Given the description of an element on the screen output the (x, y) to click on. 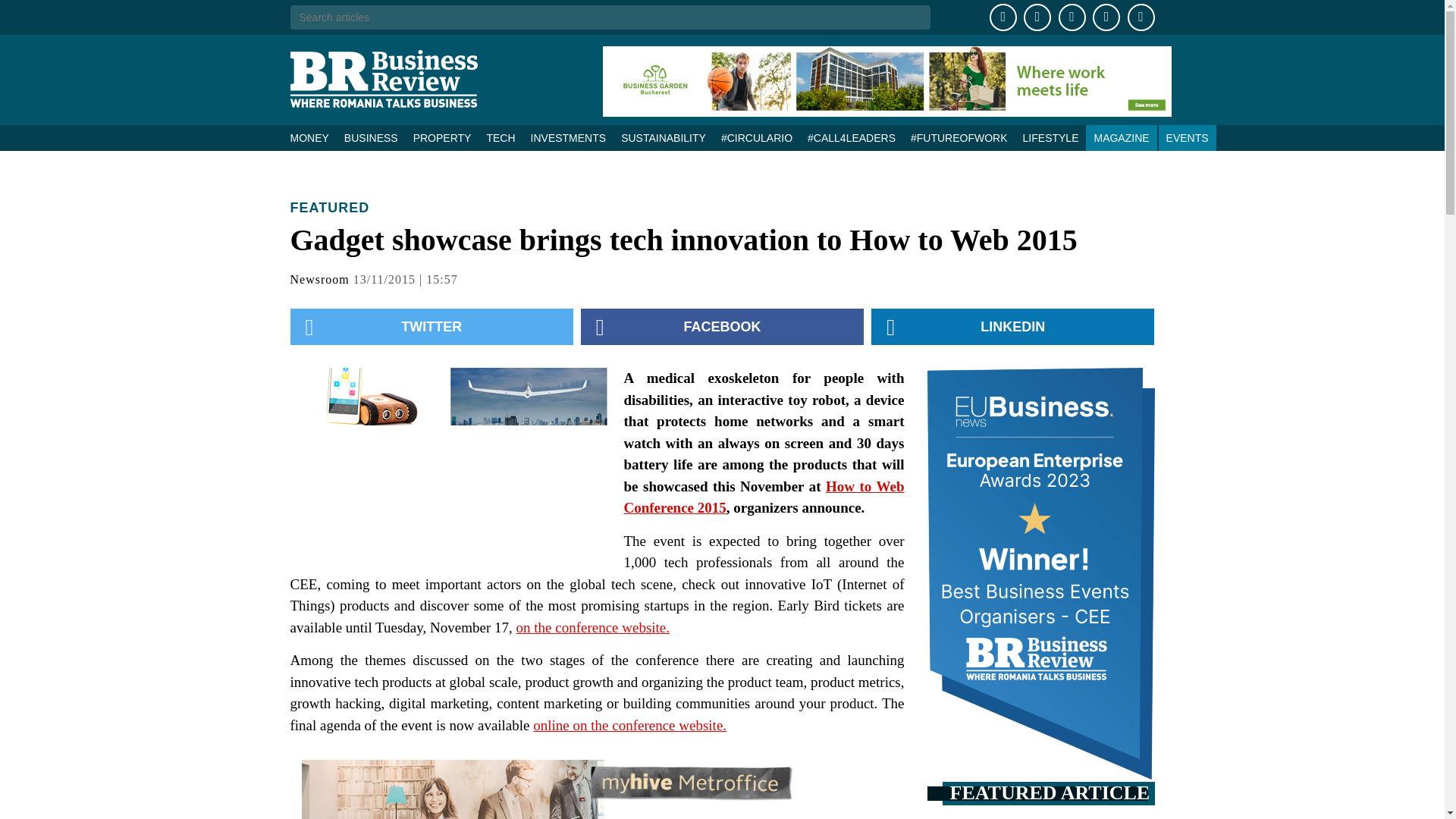
BUSINESS (371, 137)
FACEBOOK (721, 326)
LINKEDIN (1012, 326)
LIFESTYLE (1050, 137)
FEATURED (329, 207)
TWITTER (430, 326)
TECH (500, 137)
SUSTAINABILITY (662, 137)
MAGAZINE (1121, 137)
on the conference website. (592, 626)
